Given the description of an element on the screen output the (x, y) to click on. 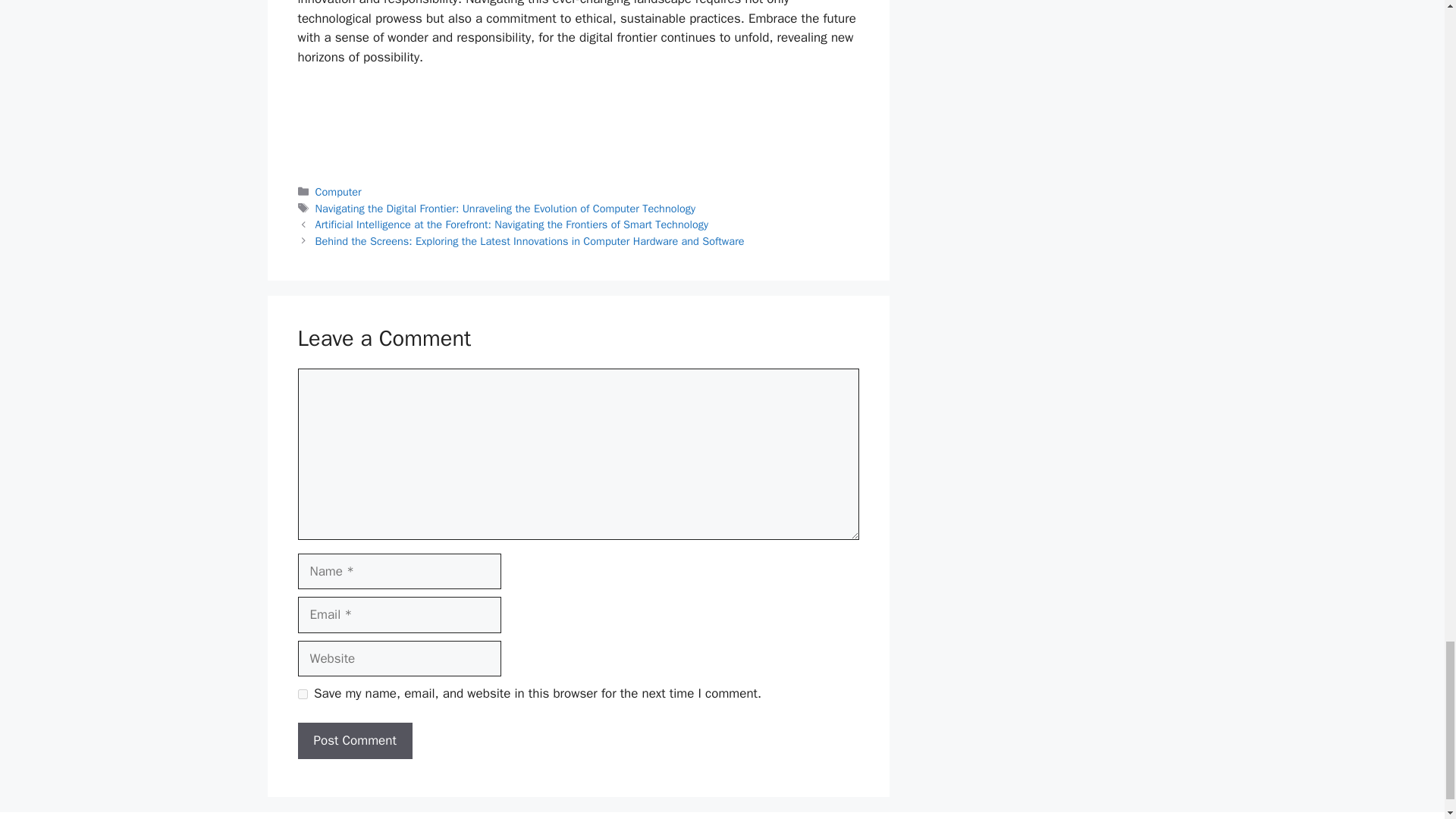
yes (302, 694)
Computer (338, 192)
Post Comment (354, 740)
Post Comment (354, 740)
